Given the description of an element on the screen output the (x, y) to click on. 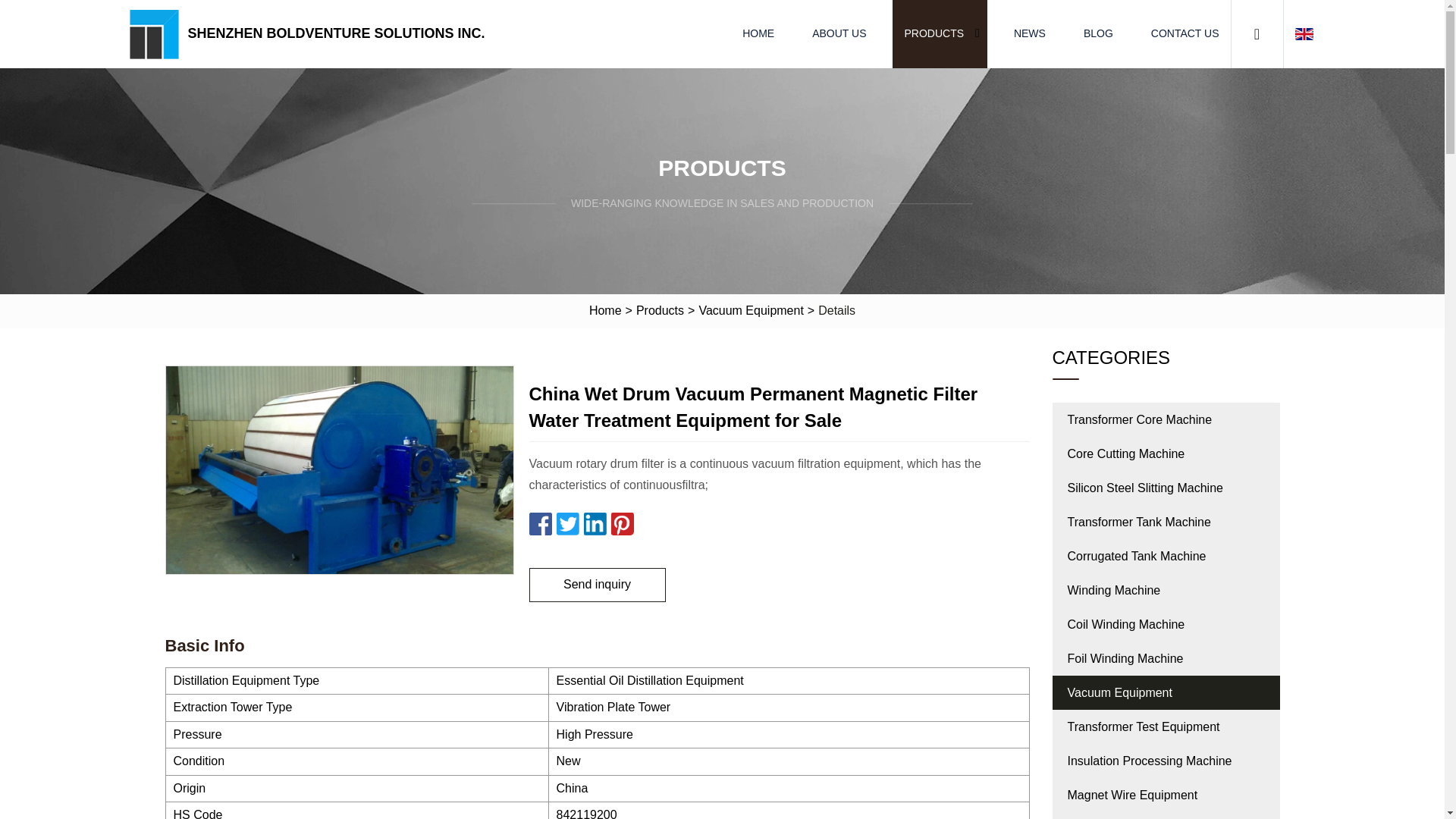
PRODUCTS (933, 33)
Shenzhen BoldVenture Solutions Inc. (310, 33)
Linkedin (595, 523)
Vacuum Equipment (750, 311)
Print (650, 523)
Twitter (567, 523)
Pinterest (622, 523)
Facebook (540, 523)
Send inquiry (597, 584)
Language (1306, 33)
SHENZHEN BOLDVENTURE SOLUTIONS INC. (310, 33)
Home (605, 311)
CONTACT US (1185, 33)
Products (659, 311)
ABOUT US (838, 33)
